Given the description of an element on the screen output the (x, y) to click on. 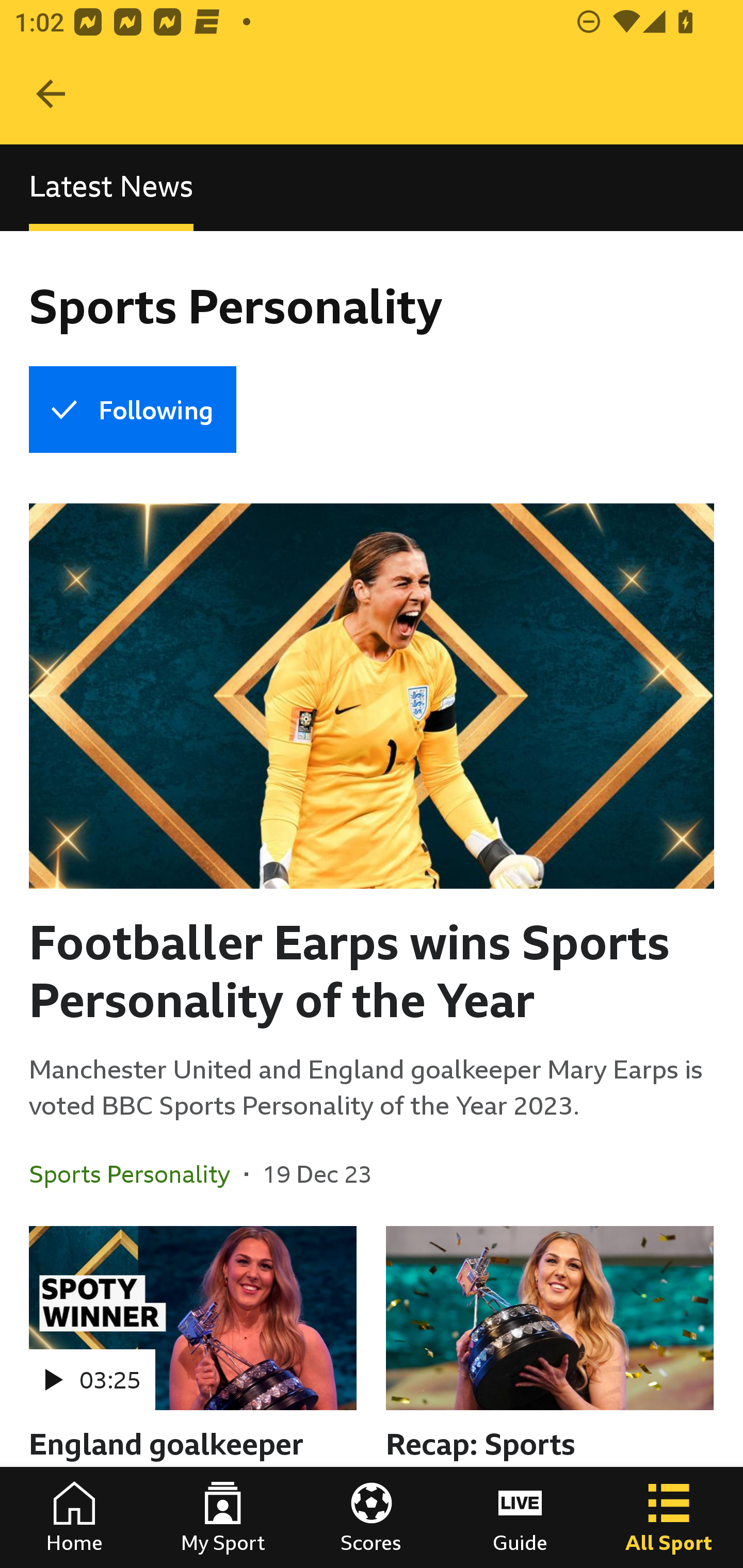
Navigate up (50, 93)
Latest News, selected Latest News (111, 187)
Following Sports Personality Following (132, 409)
Home (74, 1517)
My Sport (222, 1517)
Scores (371, 1517)
Guide (519, 1517)
